Given the description of an element on the screen output the (x, y) to click on. 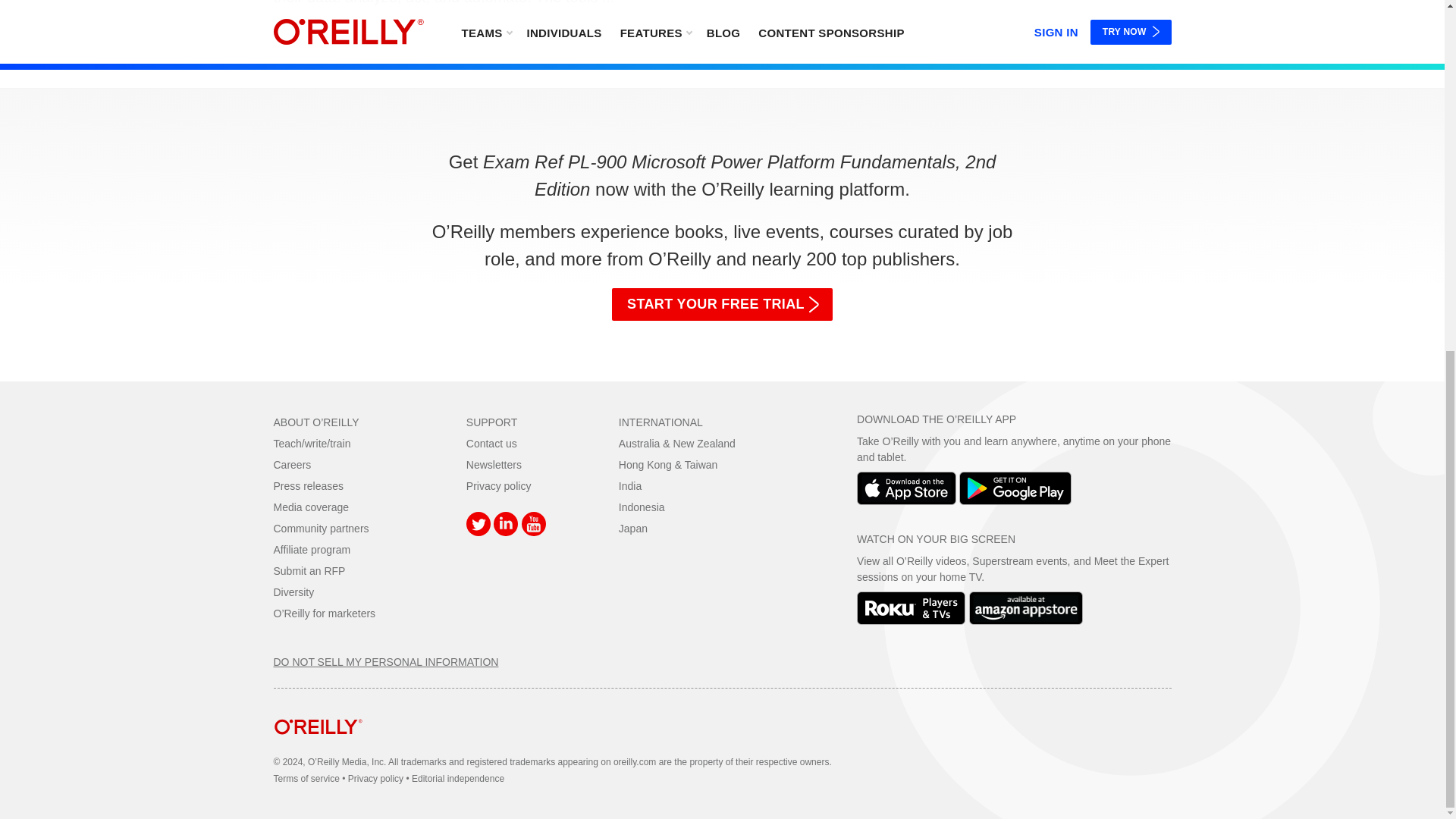
Privacy policy (498, 485)
START YOUR FREE TRIAL (721, 304)
Affiliate program (311, 549)
SUPPORT (490, 422)
Careers (292, 464)
Media coverage (311, 507)
Newsletters (493, 464)
Submit an RFP (309, 571)
Press releases (308, 485)
Contact us (490, 443)
Community partners (320, 528)
Diversity (293, 592)
home page (317, 745)
